Given the description of an element on the screen output the (x, y) to click on. 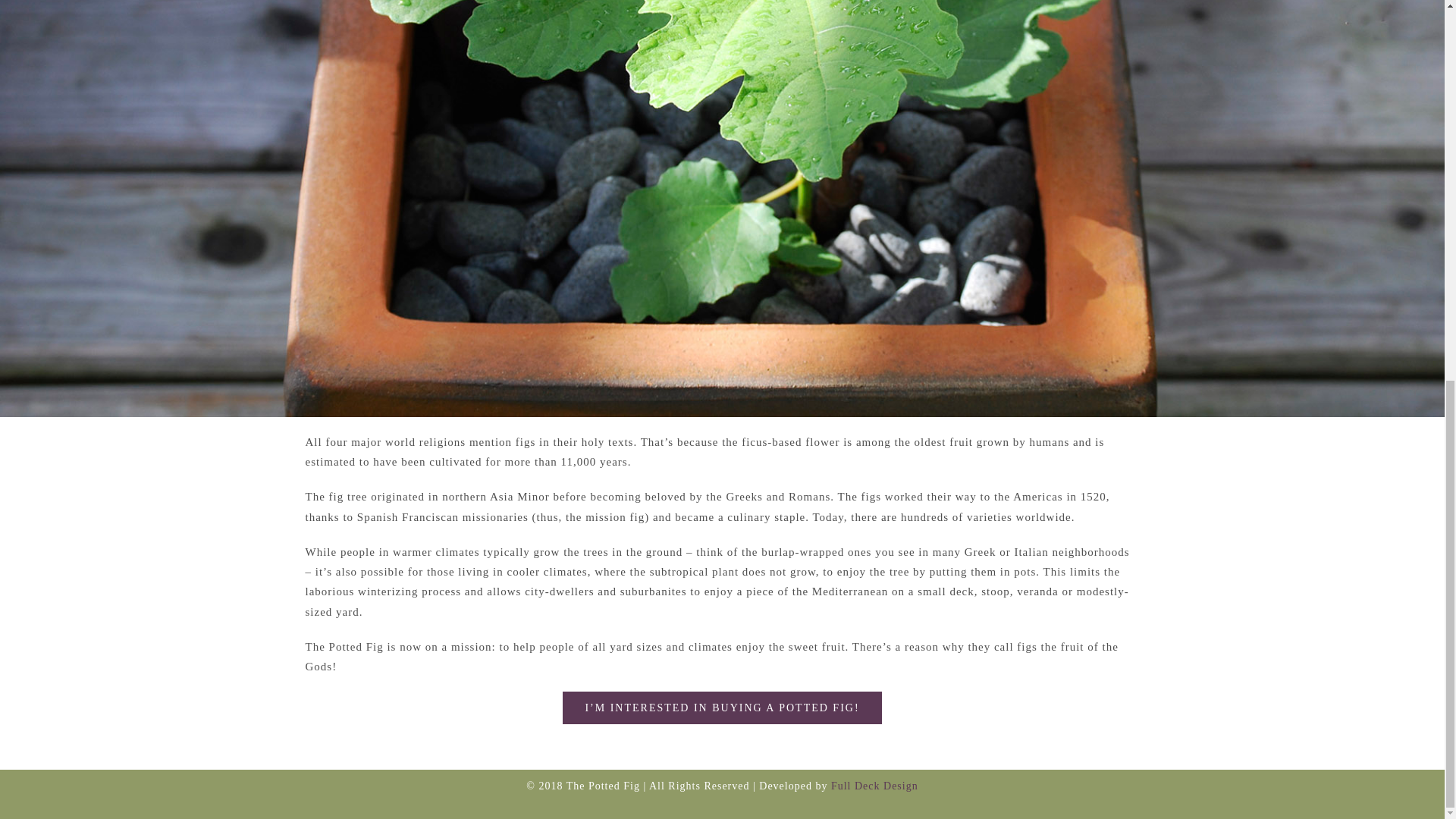
Full Deck Design (874, 785)
